Given the description of an element on the screen output the (x, y) to click on. 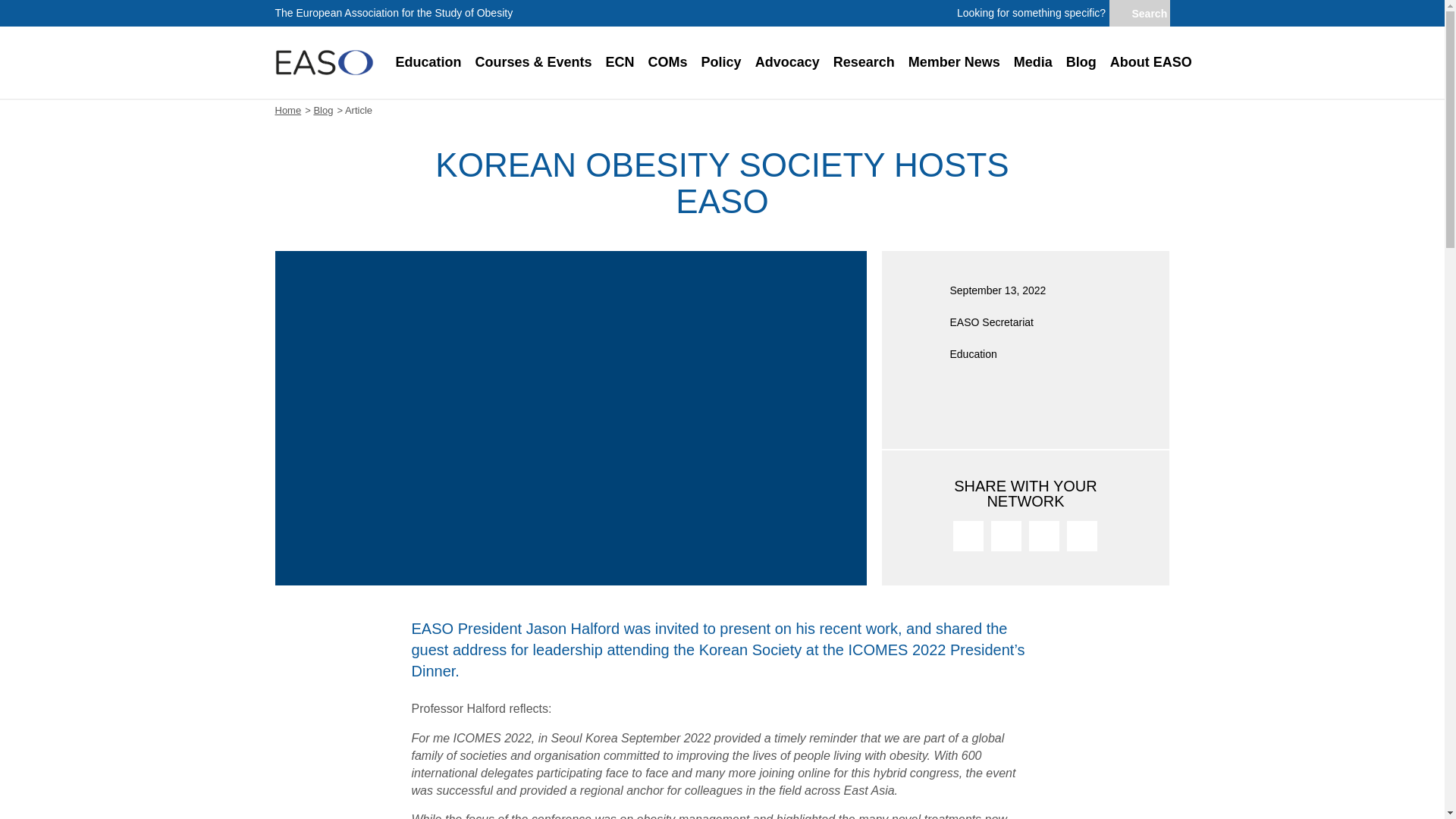
Advocacy (787, 62)
ECN (620, 62)
Policy (721, 62)
COMs (668, 62)
Education (427, 62)
Search (1138, 13)
